Given the description of an element on the screen output the (x, y) to click on. 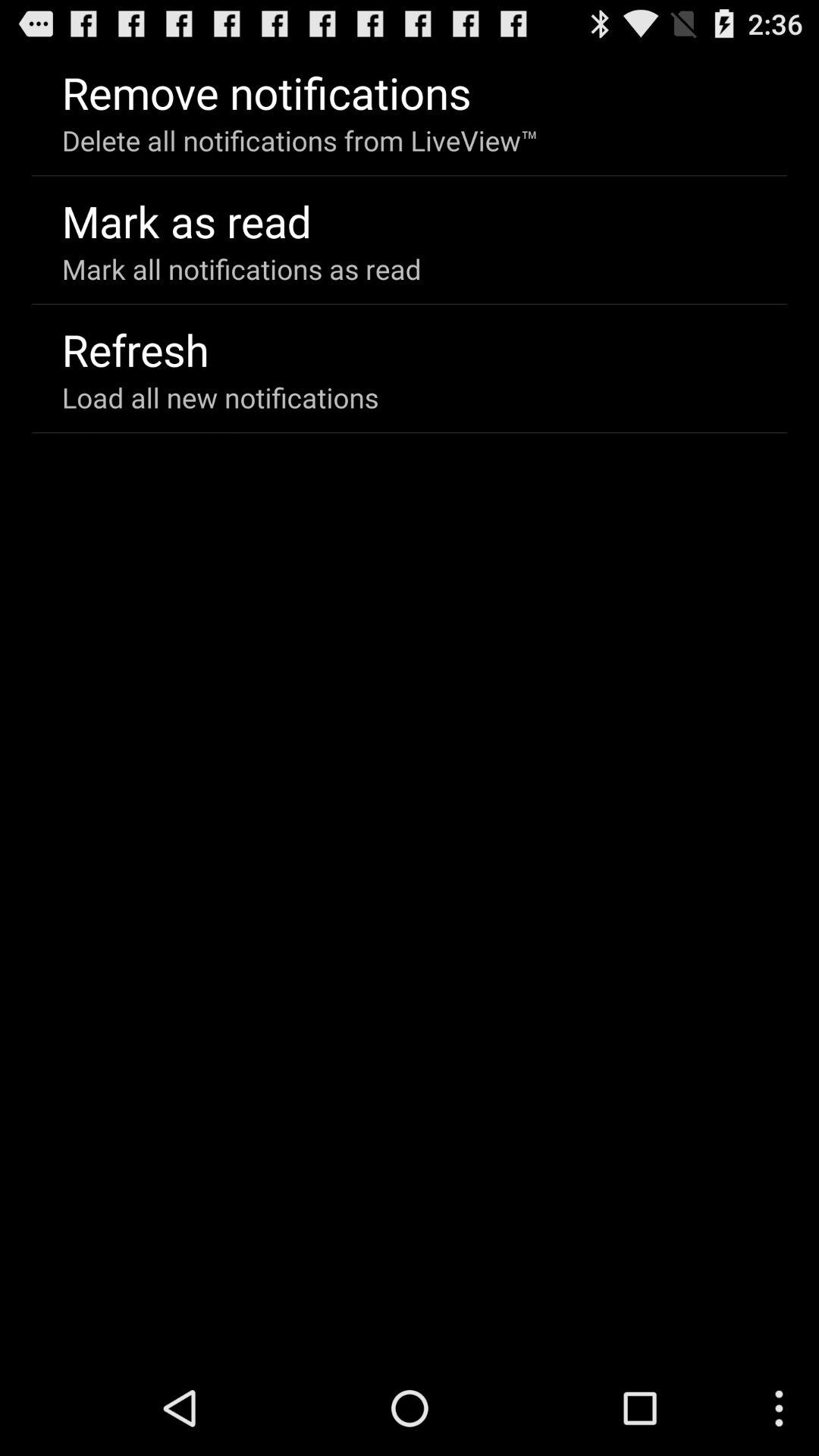
swipe until refresh item (135, 349)
